Given the description of an element on the screen output the (x, y) to click on. 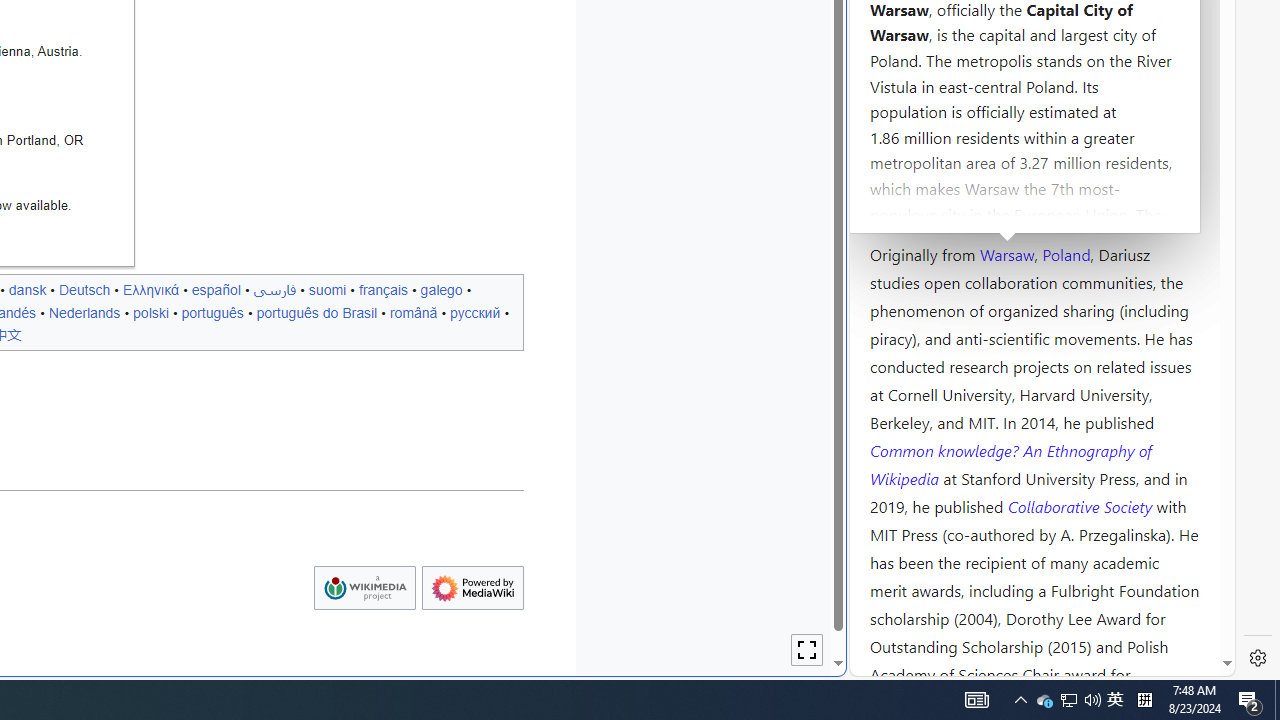
Collaborative Society  (1082, 505)
